Given the description of an element on the screen output the (x, y) to click on. 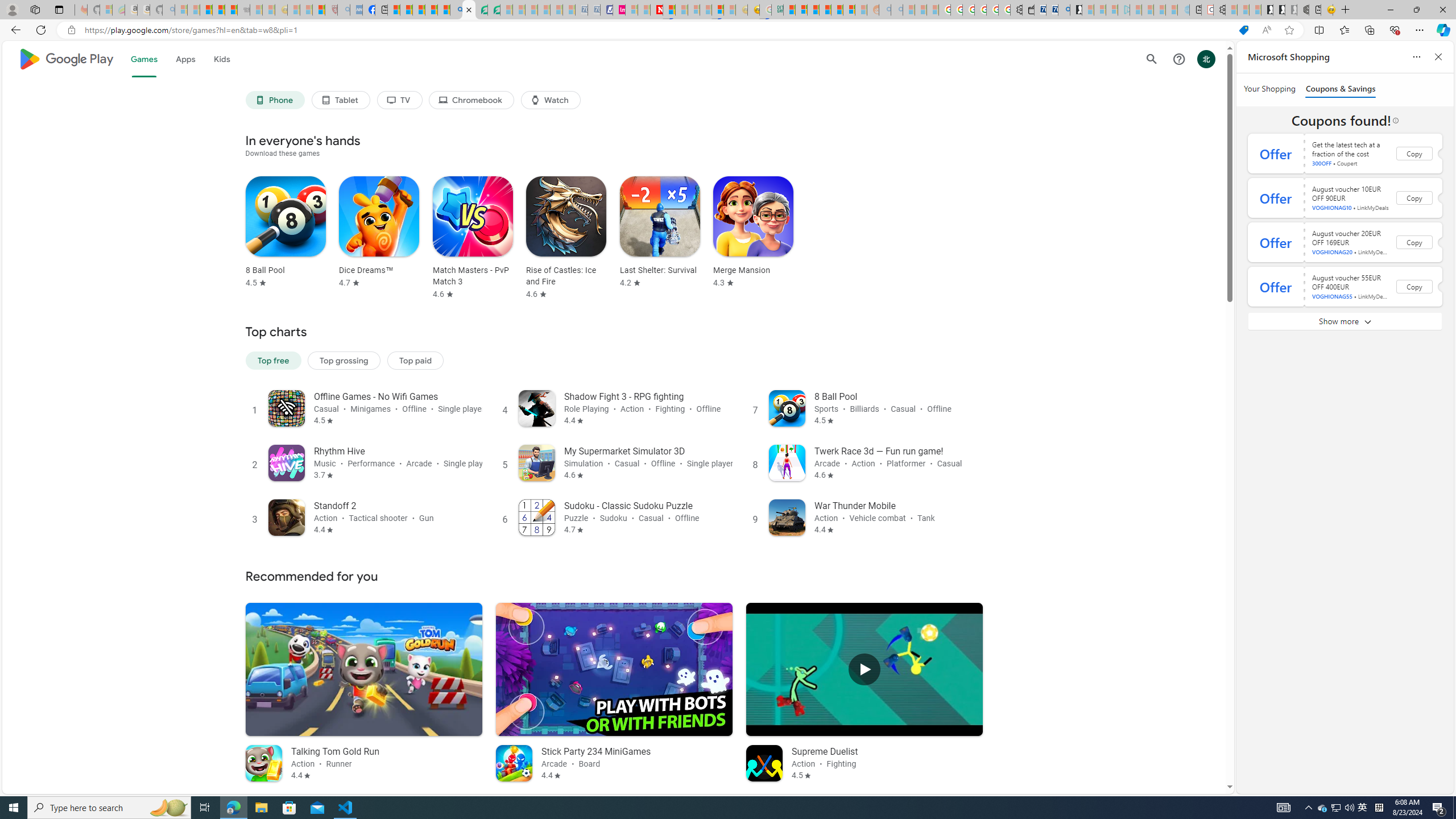
Expert Portfolios (824, 9)
8 Ball Pool Rated 4.5 stars out of five stars (285, 232)
Tablet (340, 99)
Latest Politics News & Archive | Newsweek.com (656, 9)
Play Free Online Games | Games from Microsoft Start (1267, 9)
Help Center (1178, 58)
Bing Real Estate - Home sales and rental listings (1063, 9)
Cheap Hotels - Save70.com - Sleeping (593, 9)
